Given the description of an element on the screen output the (x, y) to click on. 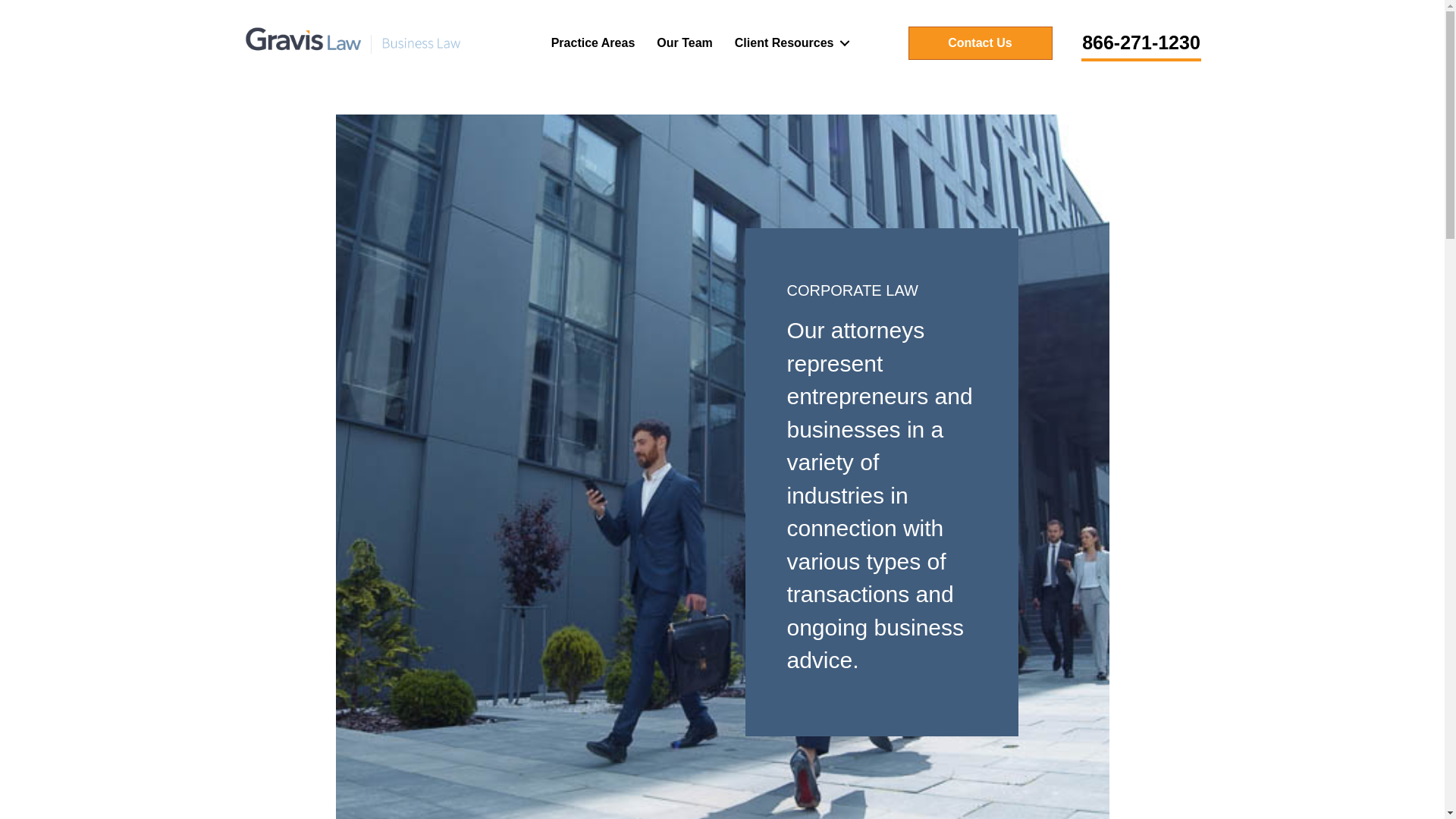
Client Resources (789, 42)
866-271-1230 (1141, 43)
Practice Areas (593, 42)
Contact Us (980, 42)
Our Team (684, 42)
